Given the description of an element on the screen output the (x, y) to click on. 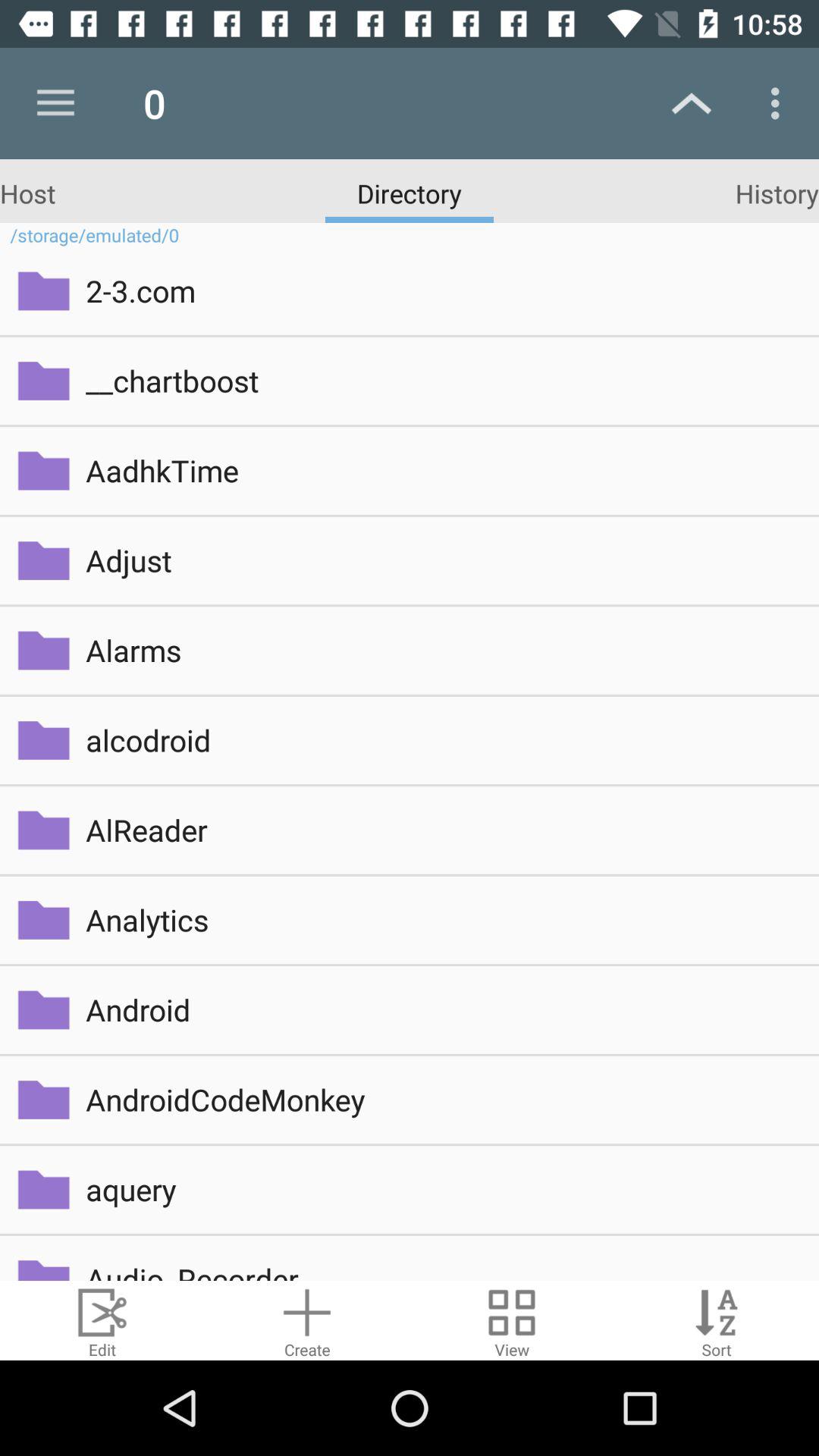
edit (102, 1320)
